Given the description of an element on the screen output the (x, y) to click on. 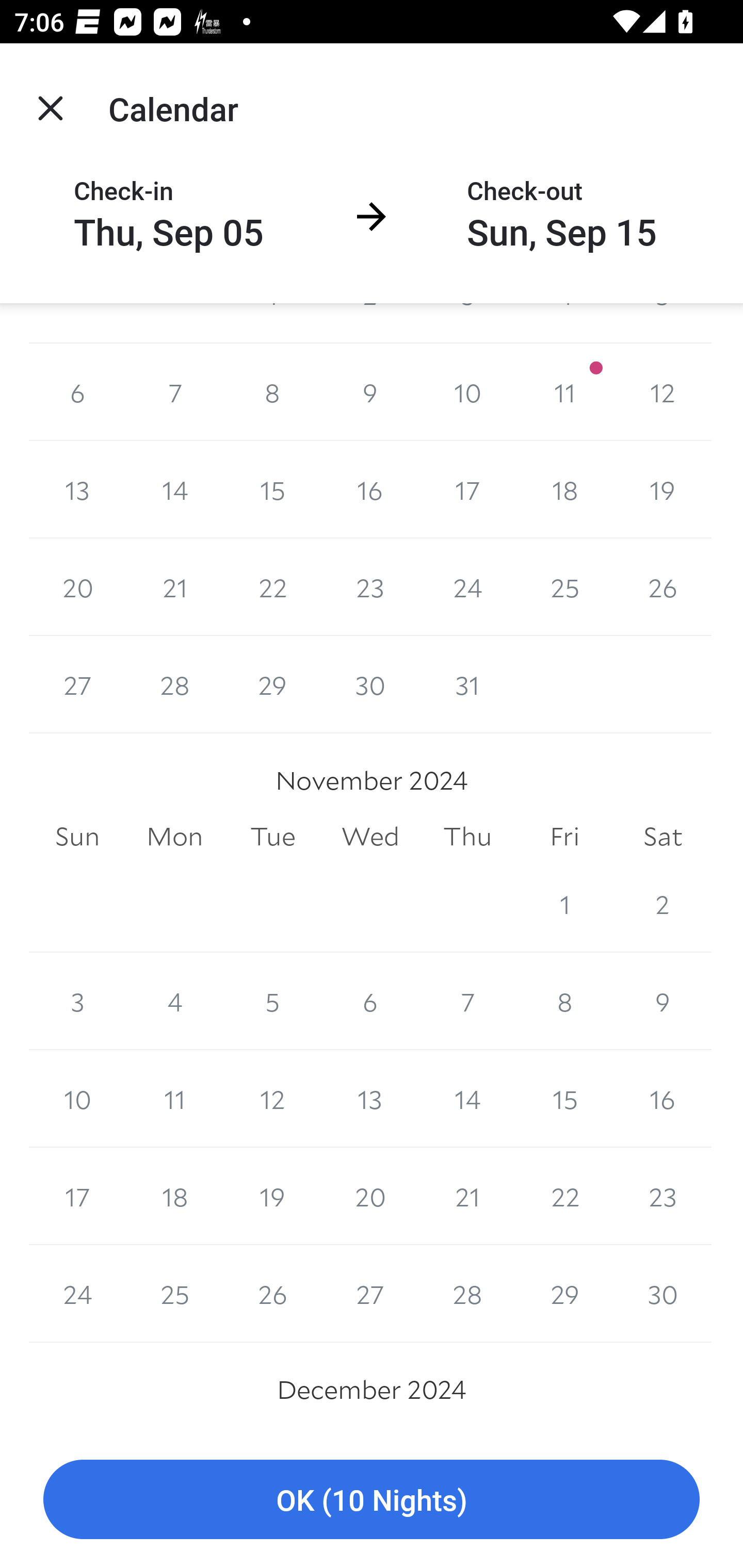
6 6 October 2024 (77, 391)
7 7 October 2024 (174, 391)
8 8 October 2024 (272, 391)
9 9 October 2024 (370, 391)
10 10 October 2024 (467, 391)
11 11 October 2024 (564, 391)
12 12 October 2024 (662, 391)
13 13 October 2024 (77, 488)
14 14 October 2024 (174, 488)
15 15 October 2024 (272, 488)
16 16 October 2024 (370, 488)
17 17 October 2024 (467, 488)
18 18 October 2024 (564, 488)
19 19 October 2024 (662, 488)
20 20 October 2024 (77, 586)
21 21 October 2024 (174, 586)
22 22 October 2024 (272, 586)
23 23 October 2024 (370, 586)
24 24 October 2024 (467, 586)
25 25 October 2024 (564, 586)
26 26 October 2024 (662, 586)
27 27 October 2024 (77, 684)
28 28 October 2024 (174, 684)
29 29 October 2024 (272, 684)
30 30 October 2024 (370, 684)
31 31 October 2024 (467, 684)
Sun (77, 836)
Mon (174, 836)
Tue (272, 836)
Wed (370, 836)
Thu (467, 836)
Fri (564, 836)
Sat (662, 836)
1 1 November 2024 (564, 903)
2 2 November 2024 (662, 903)
3 3 November 2024 (77, 1001)
4 4 November 2024 (174, 1001)
5 5 November 2024 (272, 1001)
6 6 November 2024 (370, 1001)
7 7 November 2024 (467, 1001)
8 8 November 2024 (564, 1001)
9 9 November 2024 (662, 1001)
10 10 November 2024 (77, 1098)
11 11 November 2024 (174, 1098)
12 12 November 2024 (272, 1098)
13 13 November 2024 (370, 1098)
14 14 November 2024 (467, 1098)
15 15 November 2024 (564, 1098)
16 16 November 2024 (662, 1098)
